Given the description of an element on the screen output the (x, y) to click on. 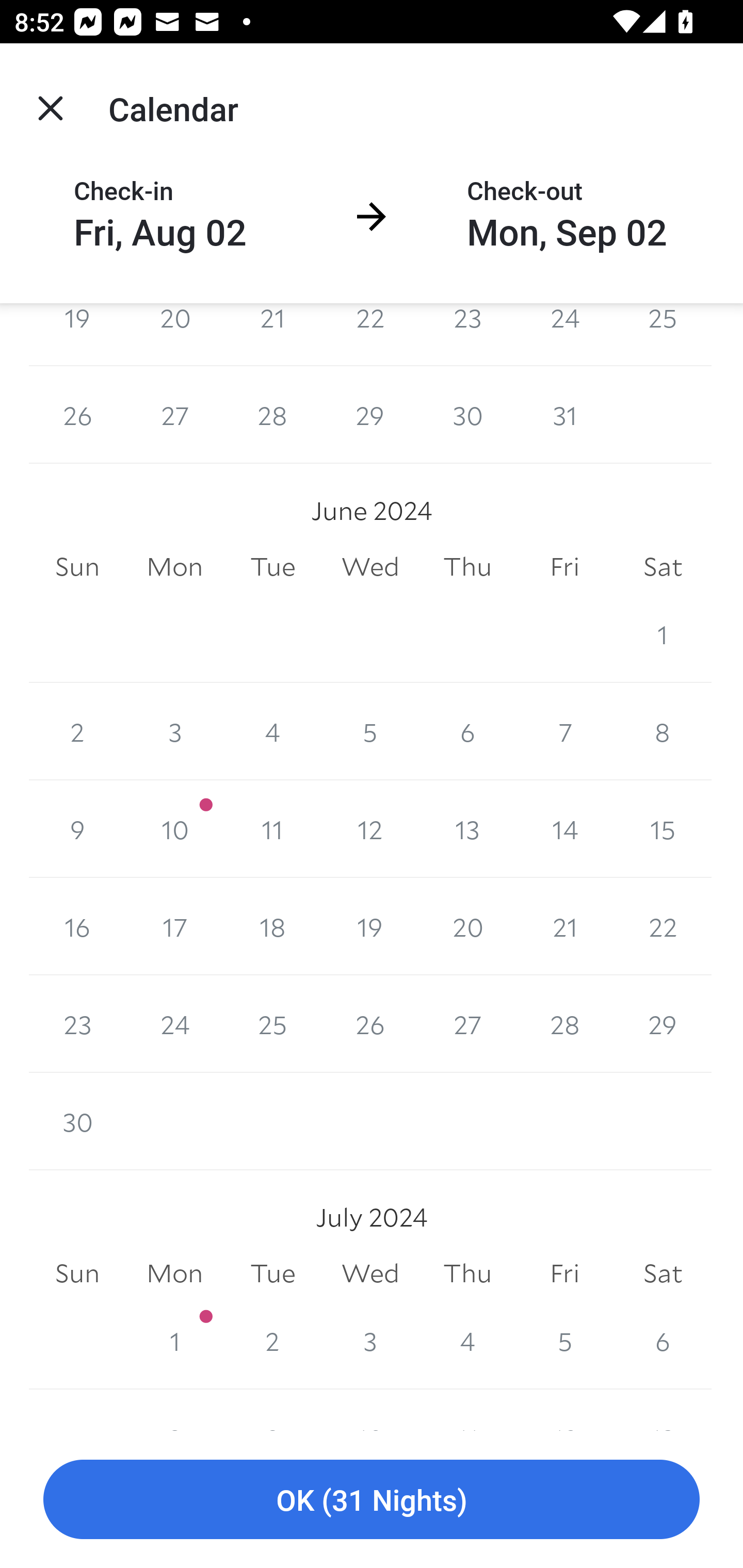
19 19 May 2024 (77, 334)
20 20 May 2024 (174, 334)
21 21 May 2024 (272, 334)
22 22 May 2024 (370, 334)
23 23 May 2024 (467, 334)
24 24 May 2024 (564, 334)
25 25 May 2024 (662, 334)
26 26 May 2024 (77, 415)
27 27 May 2024 (174, 415)
28 28 May 2024 (272, 415)
29 29 May 2024 (370, 415)
30 30 May 2024 (467, 415)
31 31 May 2024 (564, 415)
Sun (77, 566)
Mon (174, 566)
Tue (272, 566)
Wed (370, 566)
Thu (467, 566)
Fri (564, 566)
Sat (662, 566)
1 1 June 2024 (662, 633)
2 2 June 2024 (77, 731)
3 3 June 2024 (174, 731)
4 4 June 2024 (272, 731)
5 5 June 2024 (370, 731)
6 6 June 2024 (467, 731)
7 7 June 2024 (564, 731)
8 8 June 2024 (662, 731)
9 9 June 2024 (77, 829)
10 10 June 2024 (174, 829)
11 11 June 2024 (272, 829)
12 12 June 2024 (370, 829)
13 13 June 2024 (467, 829)
14 14 June 2024 (564, 829)
15 15 June 2024 (662, 829)
16 16 June 2024 (77, 926)
17 17 June 2024 (174, 926)
18 18 June 2024 (272, 926)
19 19 June 2024 (370, 926)
20 20 June 2024 (467, 926)
21 21 June 2024 (564, 926)
22 22 June 2024 (662, 926)
23 23 June 2024 (77, 1023)
24 24 June 2024 (174, 1023)
25 25 June 2024 (272, 1023)
26 26 June 2024 (370, 1023)
27 27 June 2024 (467, 1023)
28 28 June 2024 (564, 1023)
29 29 June 2024 (662, 1023)
30 30 June 2024 (77, 1120)
Sun (77, 1273)
Mon (174, 1273)
Tue (272, 1273)
Wed (370, 1273)
Thu (467, 1273)
Fri (564, 1273)
Sat (662, 1273)
1 1 July 2024 (174, 1340)
2 2 July 2024 (272, 1340)
3 3 July 2024 (370, 1340)
4 4 July 2024 (467, 1340)
5 5 July 2024 (564, 1340)
6 6 July 2024 (662, 1340)
OK (31 Nights) (371, 1499)
